Given the description of an element on the screen output the (x, y) to click on. 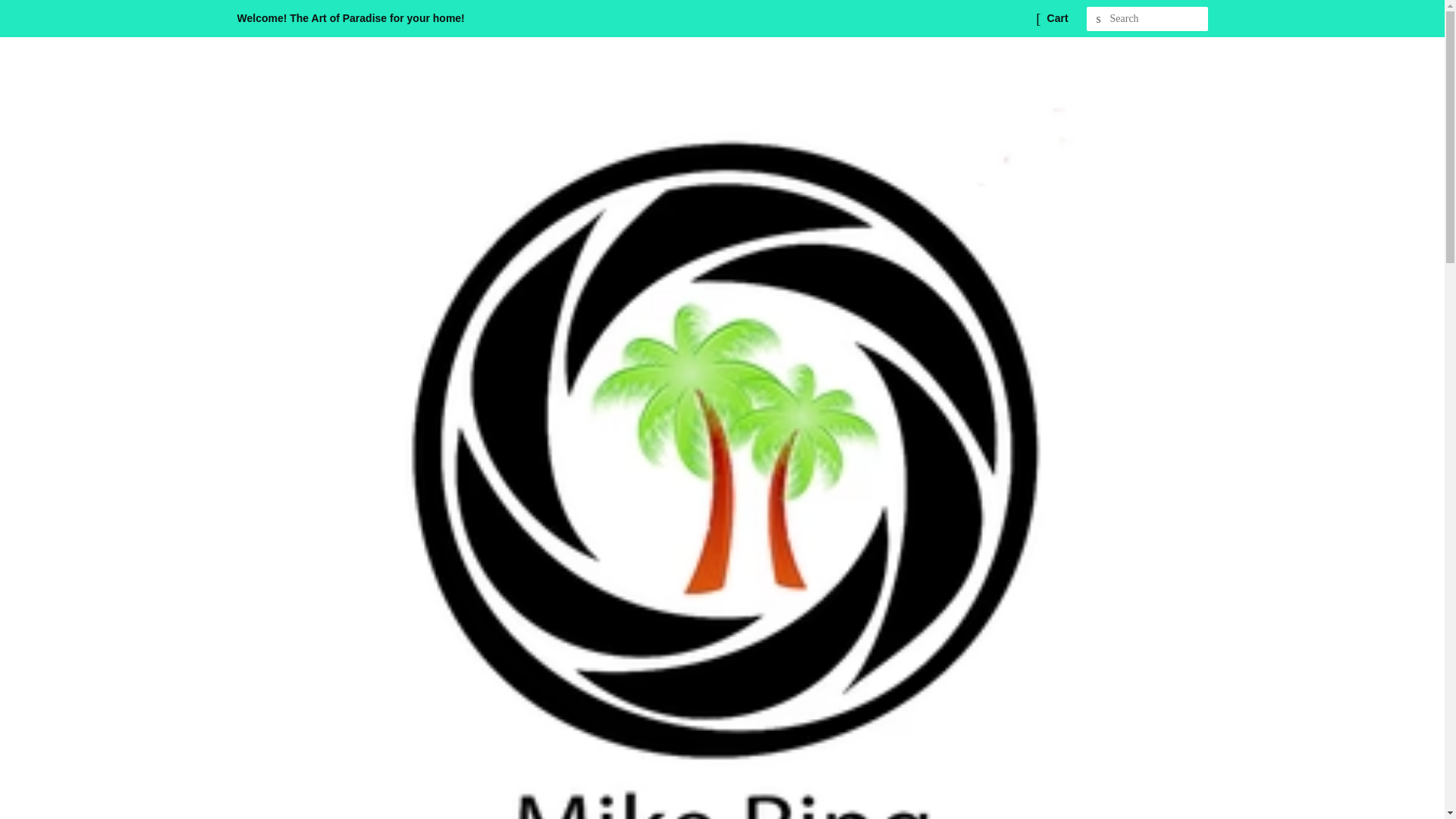
Search (1097, 18)
Cart (1057, 18)
